Given the description of an element on the screen output the (x, y) to click on. 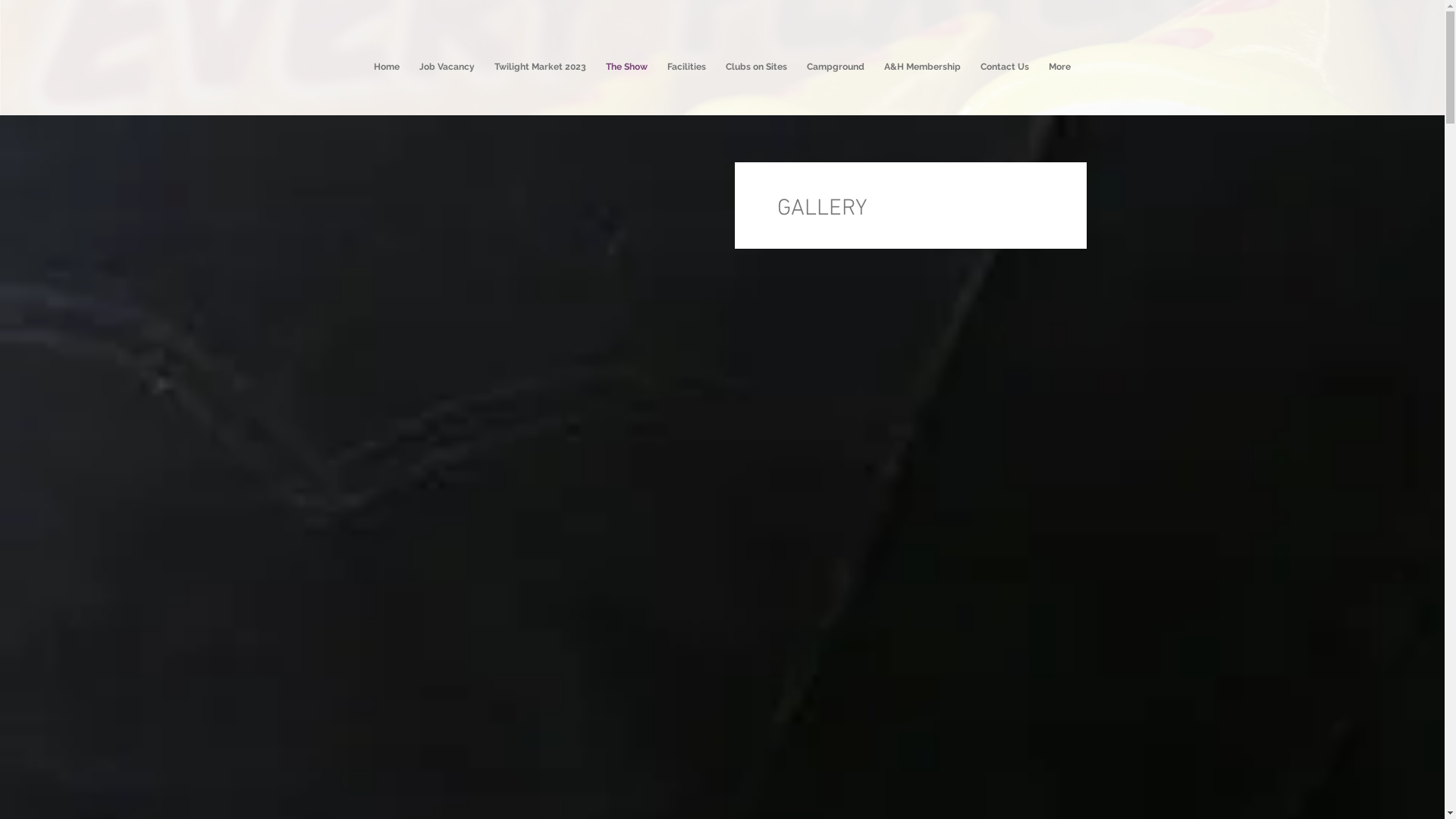
Home Element type: text (386, 81)
Facilities Element type: text (686, 81)
Clubs on Sites Element type: text (756, 81)
Campground Element type: text (835, 81)
Twilight Market 2023 Element type: text (540, 81)
Contact Us Element type: text (1004, 81)
A&H Membership Element type: text (922, 81)
Job Vacancy Element type: text (446, 81)
The Show Element type: text (626, 81)
